Given the description of an element on the screen output the (x, y) to click on. 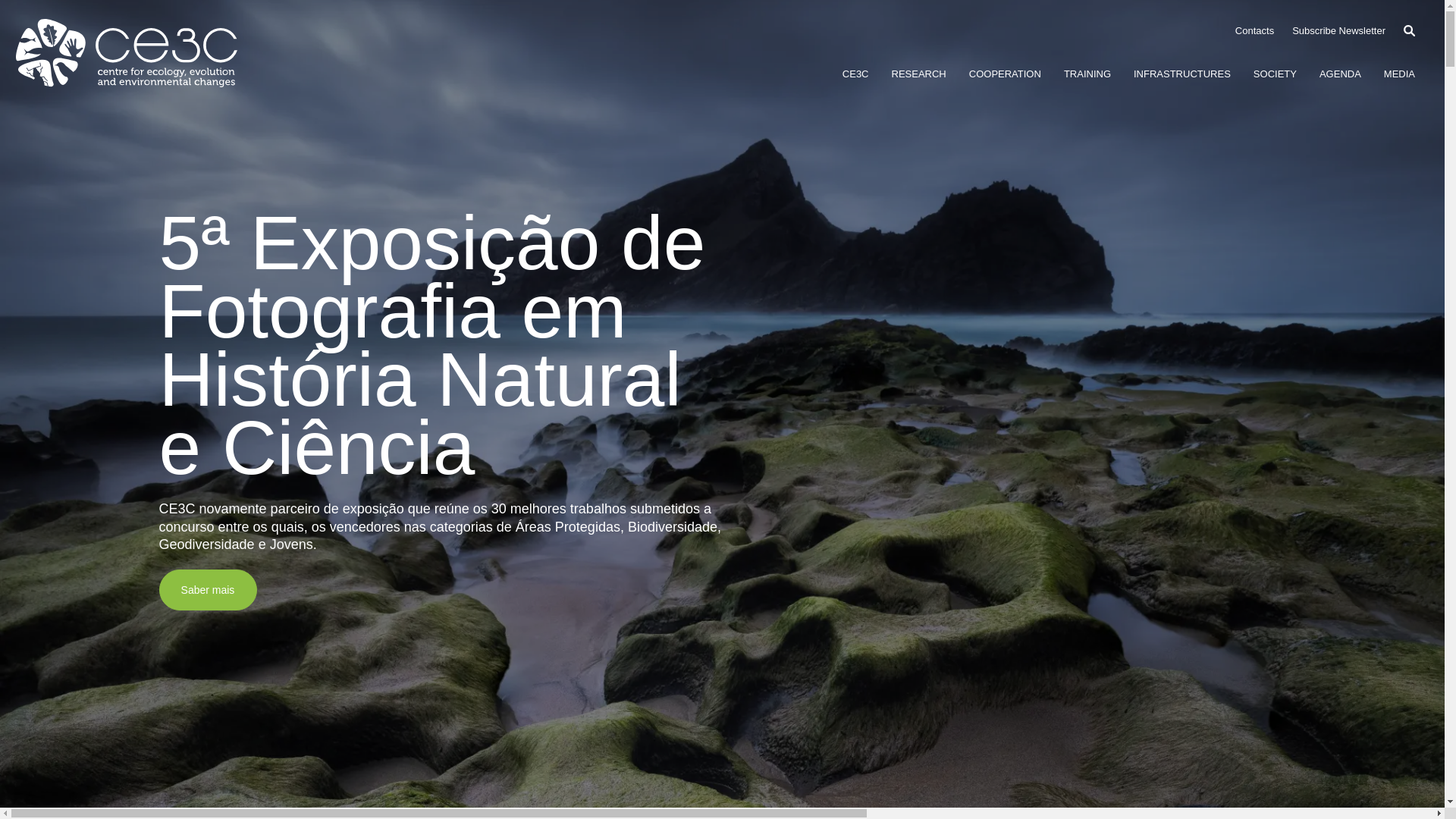
TRAINING (1087, 73)
CE3C (126, 52)
Saber mais (207, 589)
Subscribe Newsletter (1339, 30)
COOPERATION (1005, 73)
CE3C (856, 73)
MEDIA (1399, 73)
AGENDA (1340, 73)
INFRASTRUCTURES (1182, 73)
RESEARCH (918, 73)
SOCIETY (1275, 73)
Contacts (1254, 30)
